Given the description of an element on the screen output the (x, y) to click on. 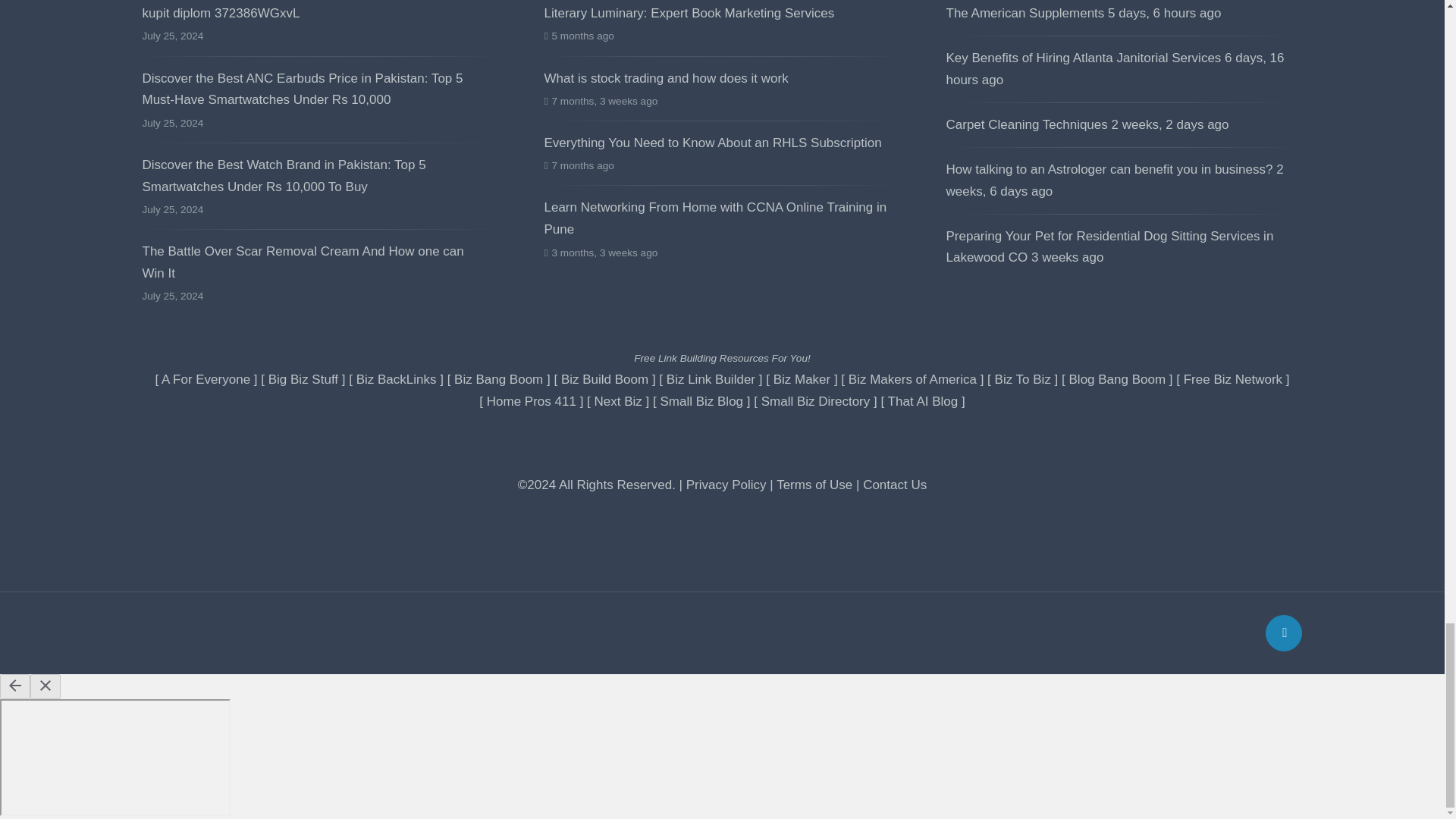
A For Everyone - FREE Link building. (205, 379)
Biz BackLinks - FREE Link building. (396, 379)
Big Biz Stuff - FREE Link building. (302, 379)
Nice Post (1110, 247)
